Given the description of an element on the screen output the (x, y) to click on. 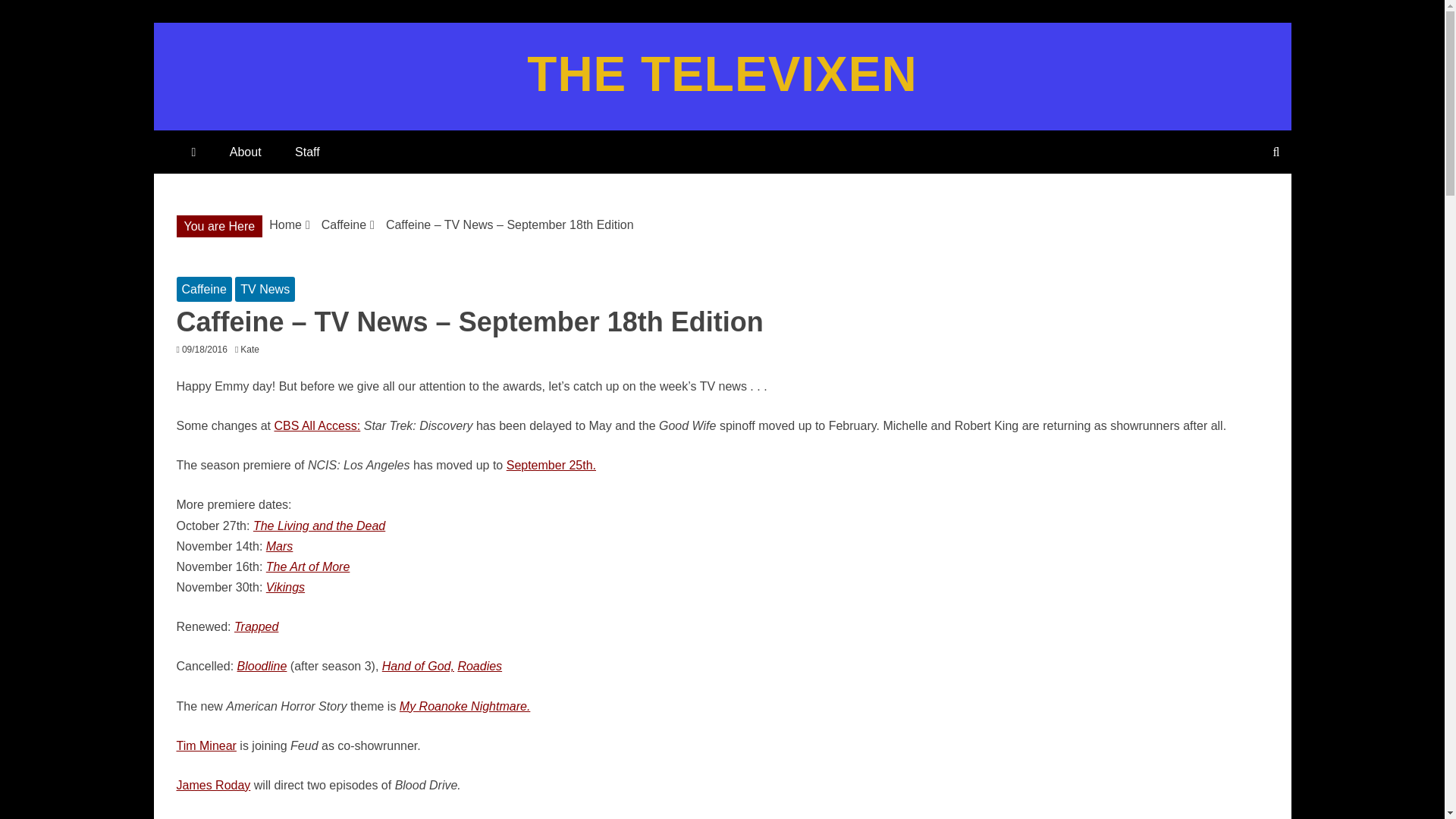
September 25th. (550, 464)
My Roanoke Nightmare. (464, 706)
Trapped (256, 626)
Home (285, 224)
Tim Minear (205, 745)
Hand of God, (417, 666)
Kate (253, 348)
Caffeine (203, 289)
The Art of More (308, 566)
THE TELEVIXEN (722, 73)
